Given the description of an element on the screen output the (x, y) to click on. 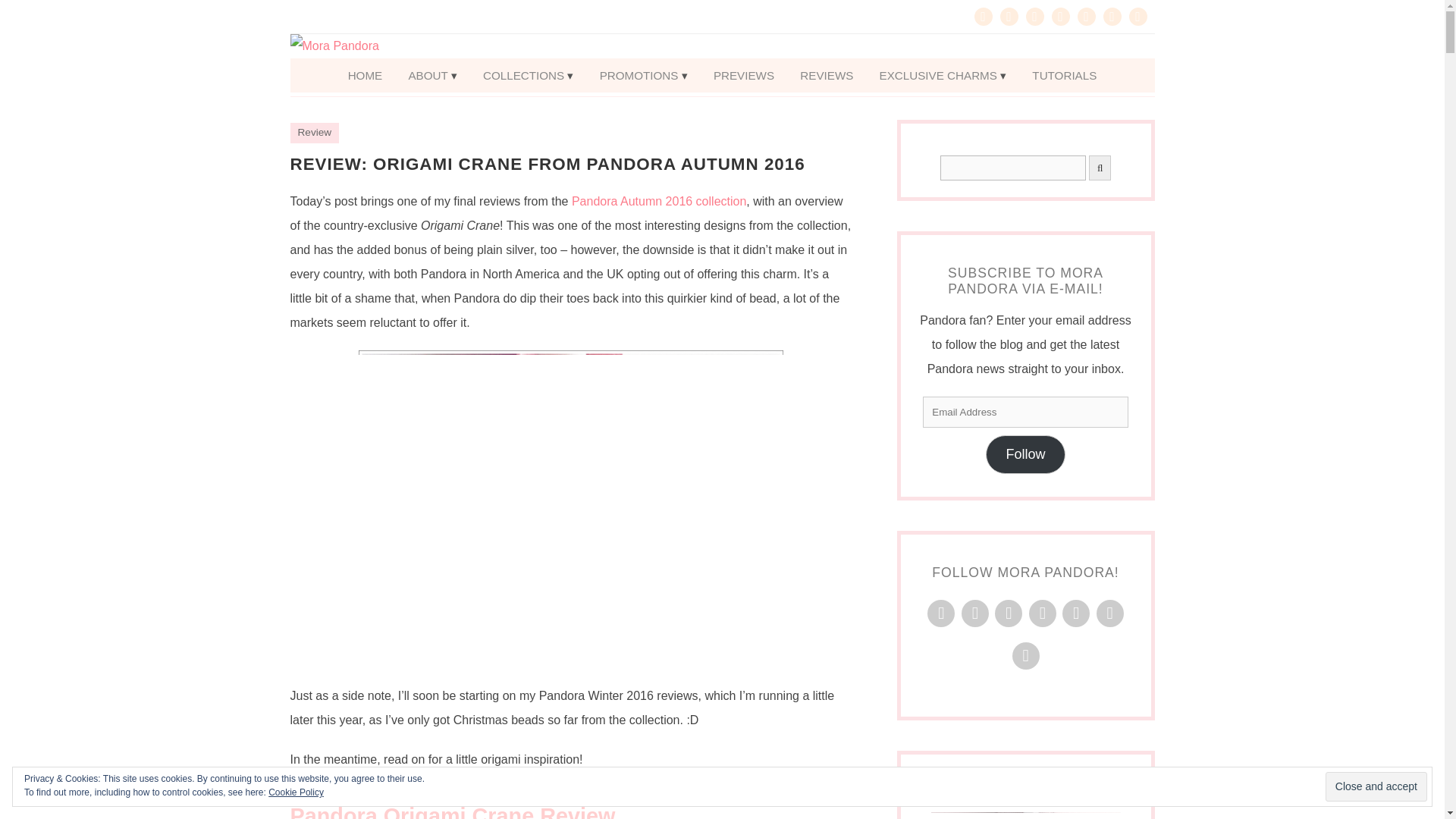
HOME (365, 75)
TUTORIALS (1064, 75)
Mora Pandora (721, 46)
Review: Origami Crane from Pandora Autumn 2016 (547, 163)
REVIEW: ORIGAMI CRANE FROM PANDORA AUTUMN 2016 (547, 163)
Close and accept (1375, 786)
Review (314, 132)
PREVIEWS (743, 75)
REVIEWS (826, 75)
COLLECTIONS (528, 75)
